Given the description of an element on the screen output the (x, y) to click on. 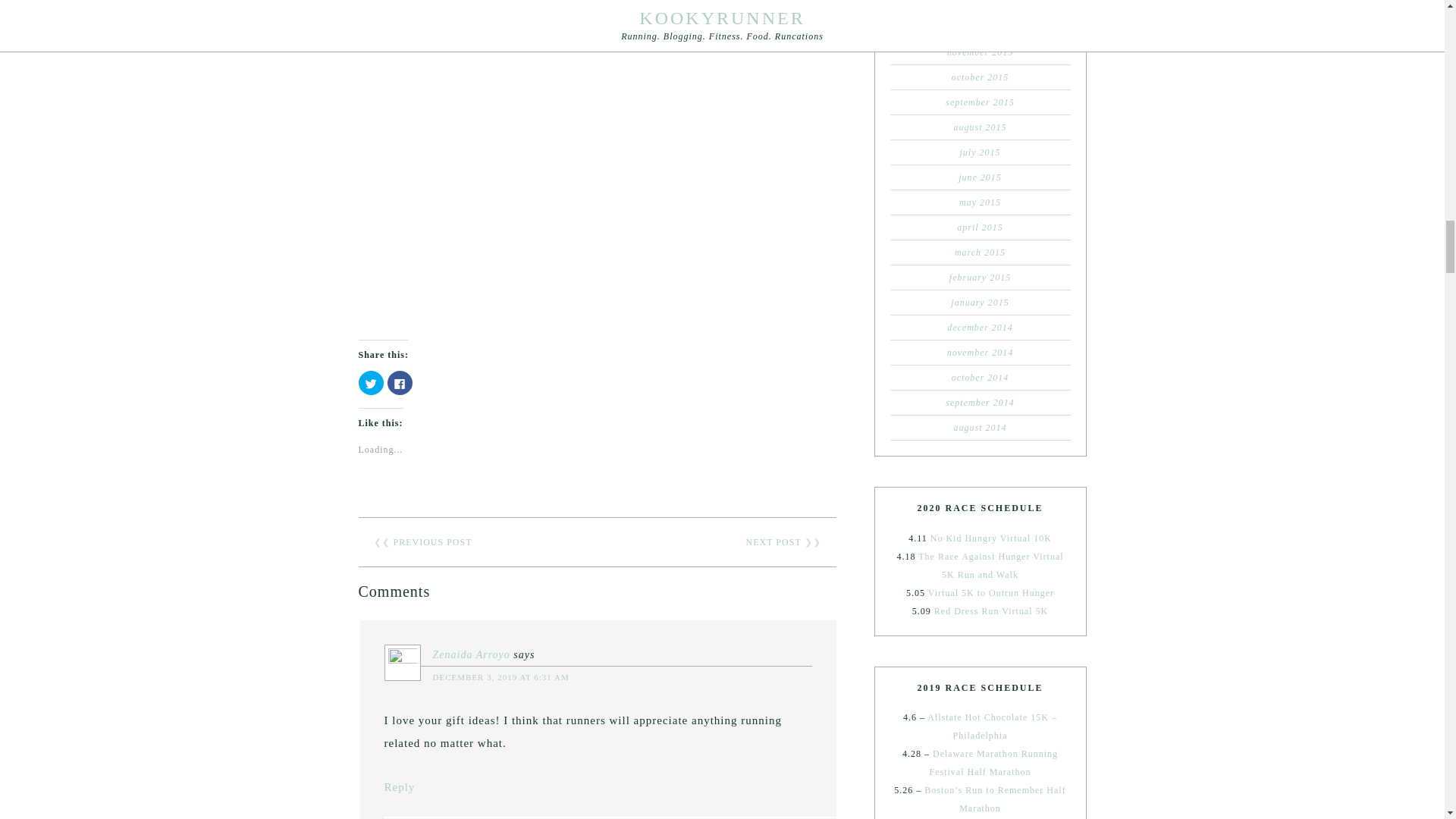
DECEMBER 3, 2019 AT 6:31 AM (500, 676)
Reply (399, 787)
PREVIOUS POST (432, 542)
Click to share on Twitter (370, 381)
Click to share on Facebook (399, 381)
NEXT POST (773, 542)
Zenaida Arroyo (470, 654)
